Given the description of an element on the screen output the (x, y) to click on. 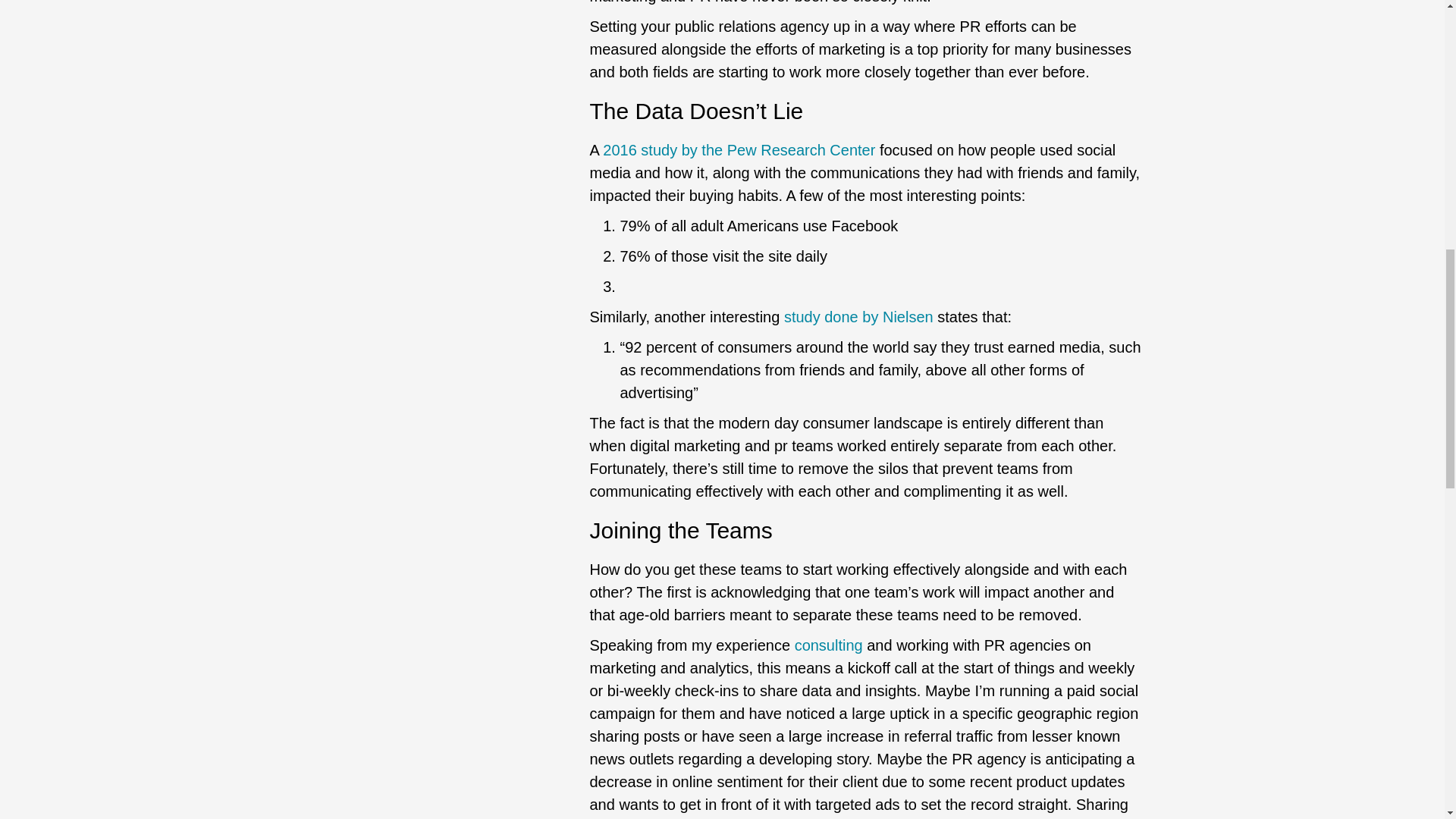
consulting (828, 645)
2016 study by the Pew Research Center (738, 149)
study done by Nielsen (858, 316)
